Given the description of an element on the screen output the (x, y) to click on. 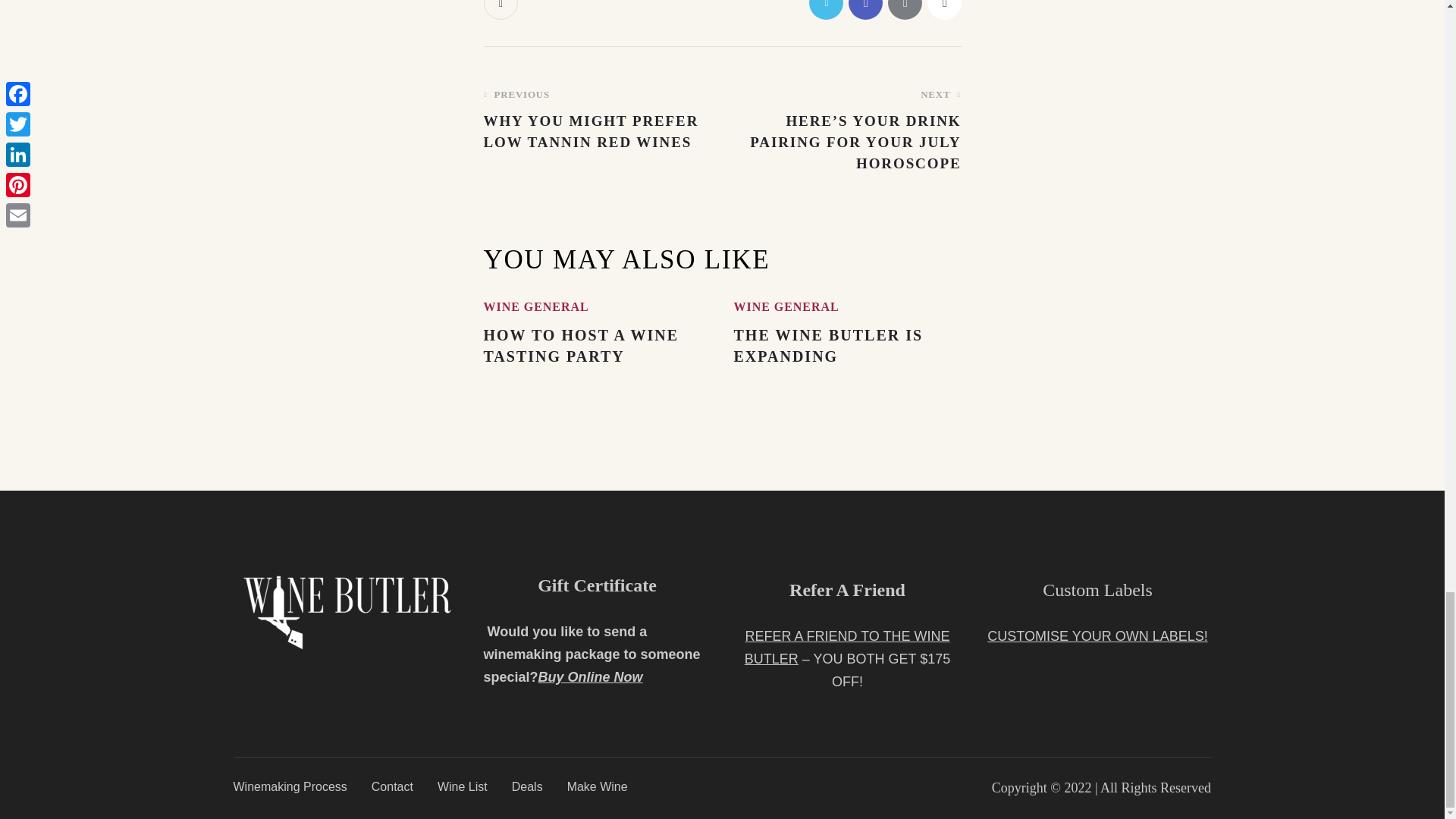
WINE GENERAL (536, 306)
Like (502, 9)
HOW TO HOST A WINE TASTING PARTY (597, 120)
WINE GENERAL (597, 345)
Copy URL to clipboard (786, 306)
